Given the description of an element on the screen output the (x, y) to click on. 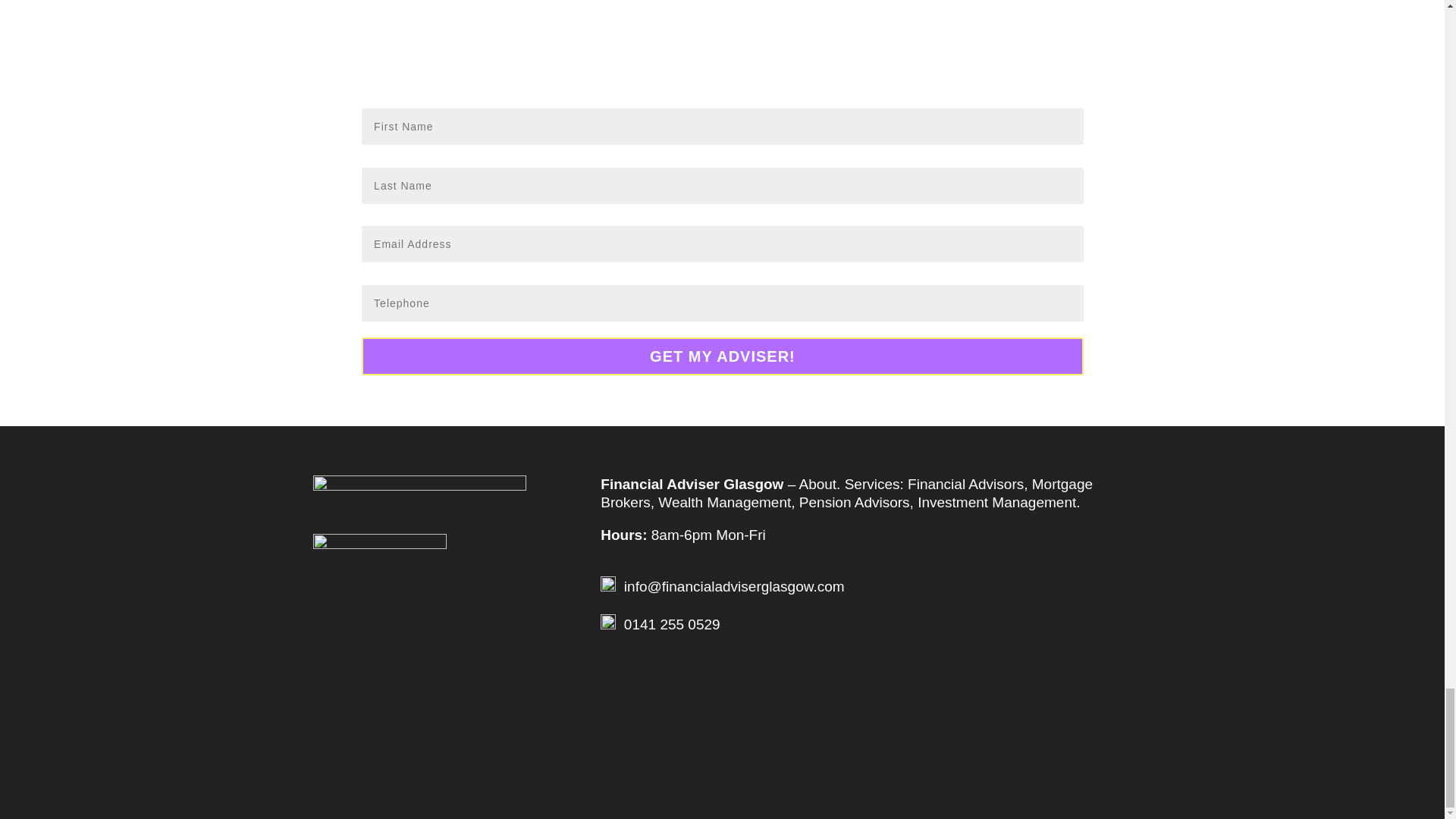
Only numbers allowed. (722, 303)
